Given the description of an element on the screen output the (x, y) to click on. 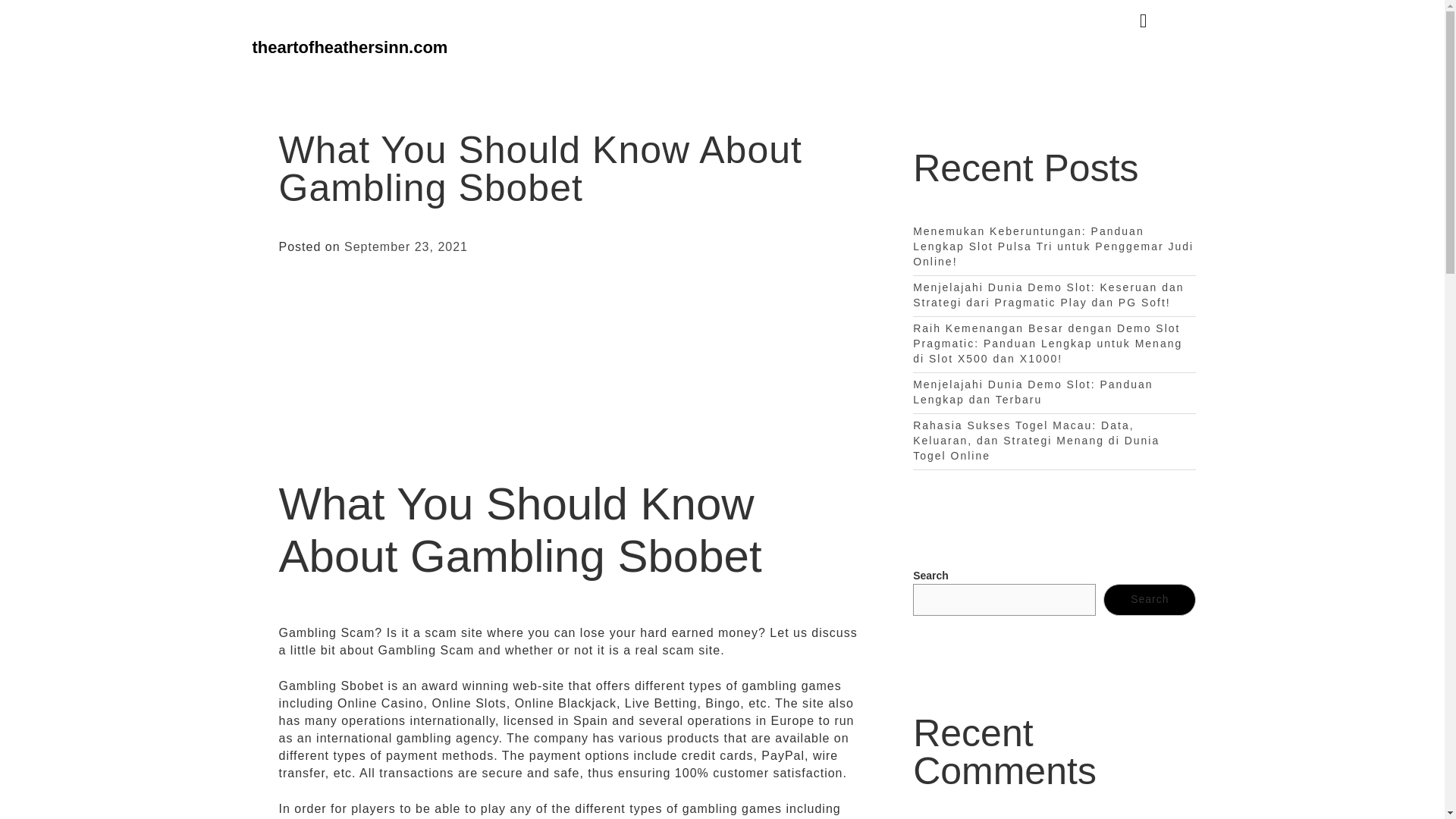
theartofheathersinn.com (348, 46)
September 23, 2021 (405, 246)
Menjelajahi Dunia Demo Slot: Panduan Lengkap dan Terbaru (1032, 391)
Search (1149, 599)
